Given the description of an element on the screen output the (x, y) to click on. 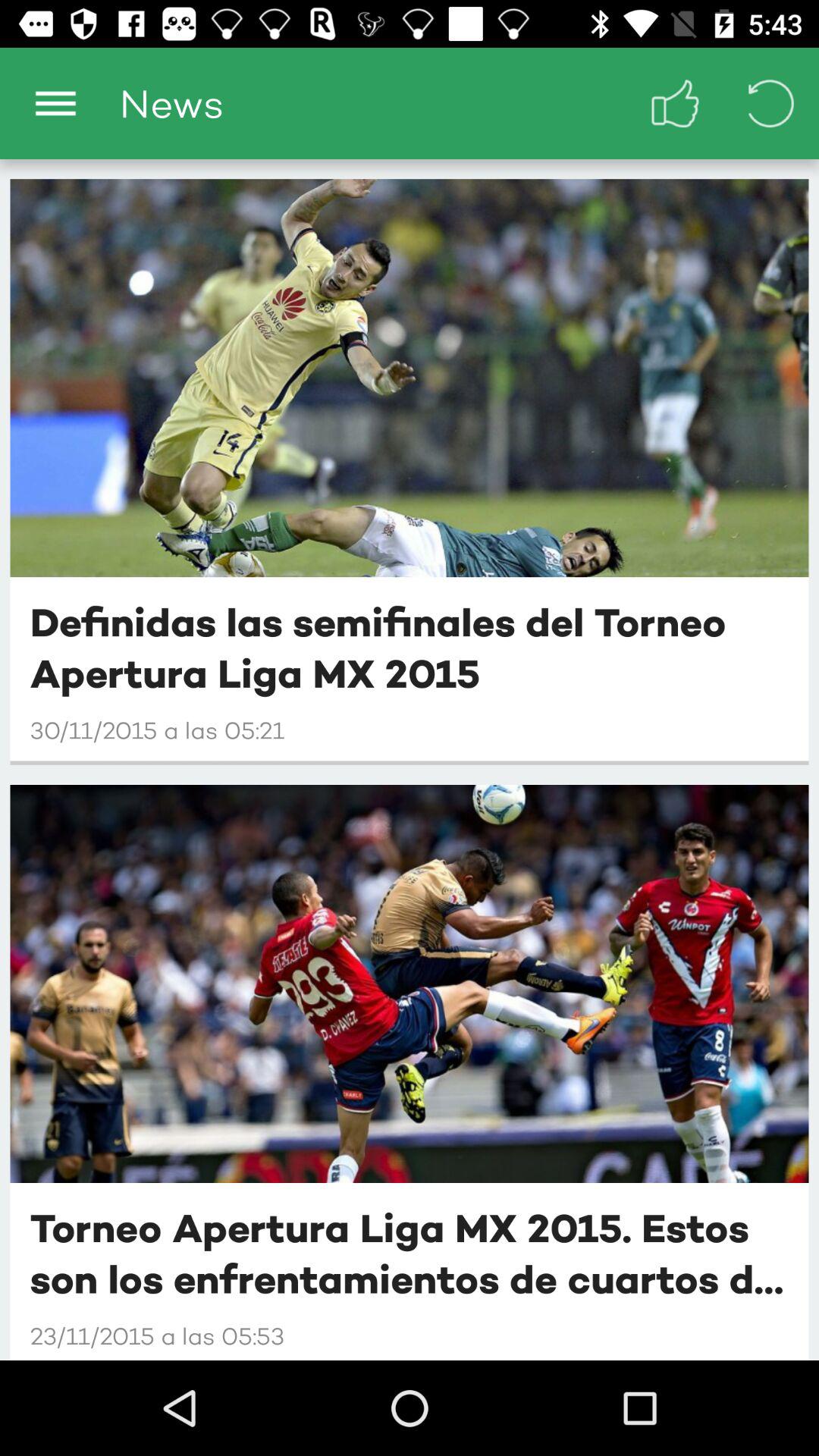
press app to the left of the news app (55, 103)
